Given the description of an element on the screen output the (x, y) to click on. 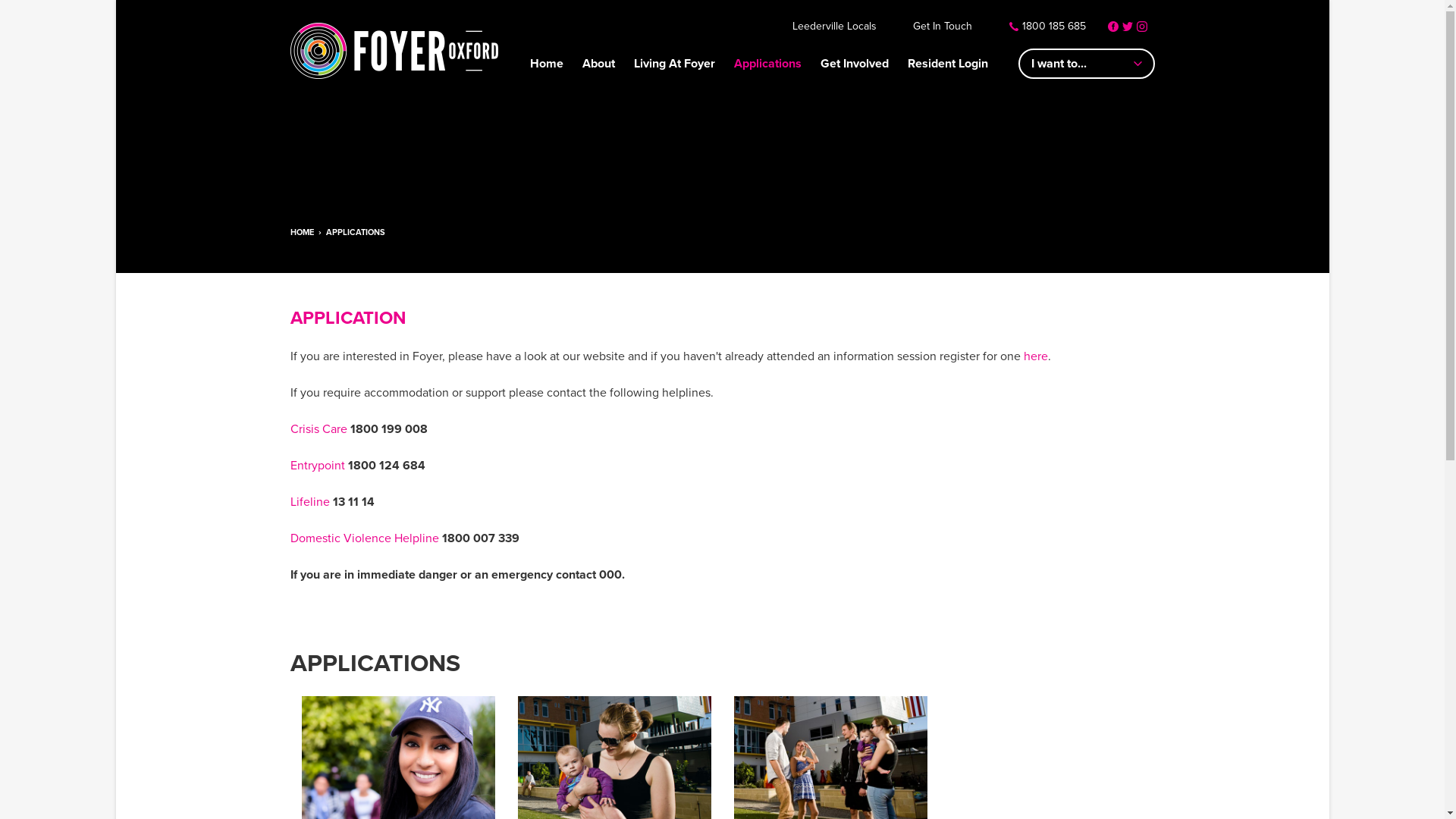
Get Involved Element type: text (854, 67)
Get In Touch Element type: text (942, 26)
Living At Foyer Element type: text (674, 67)
1800 185 685 Element type: text (1046, 26)
Entrypoint  Element type: text (318, 465)
Domestic Violence Helpline Element type: text (363, 538)
About Element type: text (598, 67)
Twitter Element type: text (1127, 26)
Home Element type: text (545, 67)
Instagram Element type: text (1140, 26)
Leederville Locals Element type: text (833, 26)
Crisis Care Element type: text (317, 428)
Applications Element type: text (767, 67)
Foyer Oxford Element type: text (393, 50)
Resident Login Element type: text (946, 67)
Lifeline Element type: text (309, 501)
APPLICATIONS Element type: text (355, 232)
HOME Element type: text (301, 232)
Facebook Element type: text (1112, 26)
here Element type: text (1035, 356)
